Given the description of an element on the screen output the (x, y) to click on. 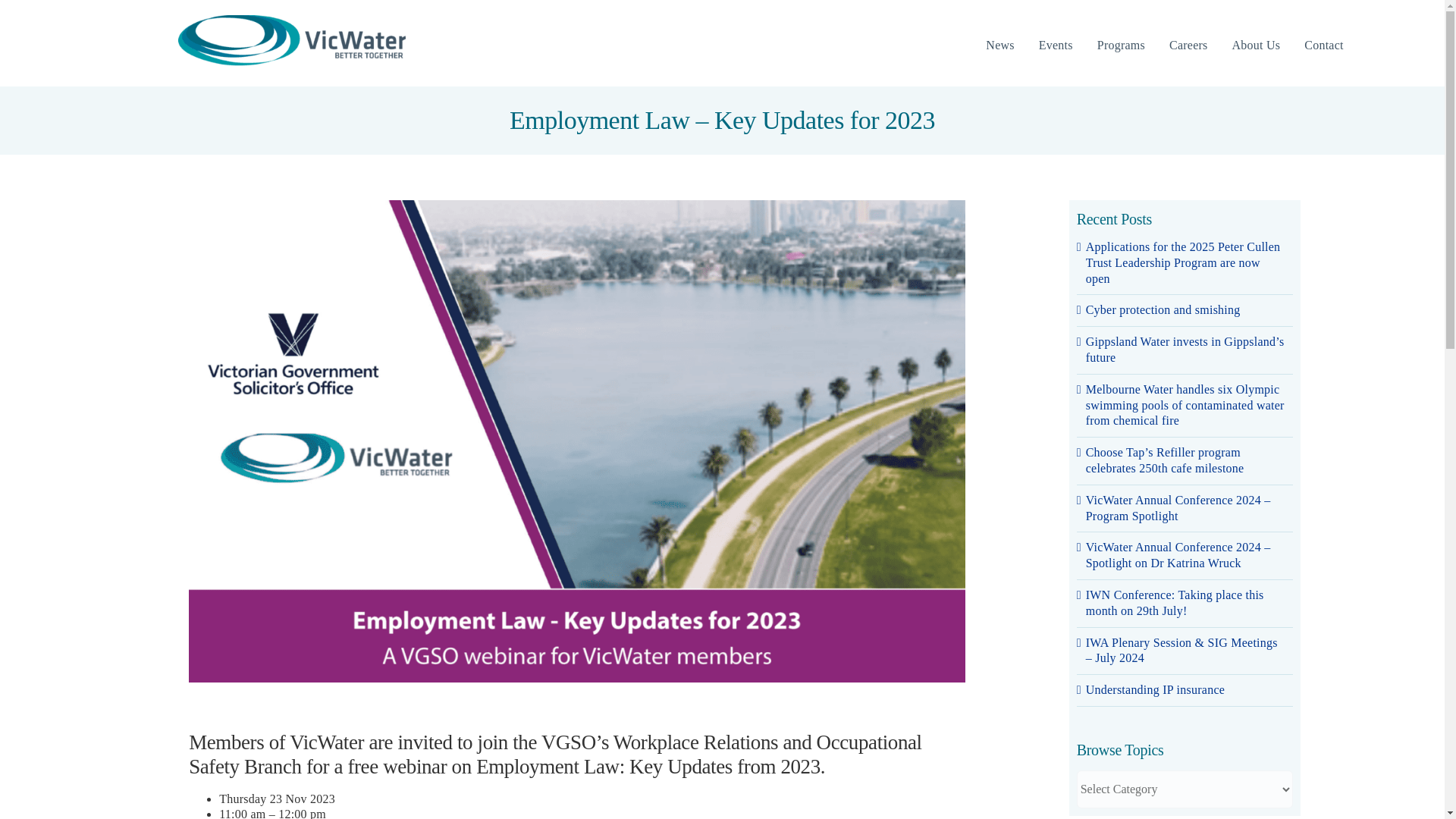
Careers (1188, 45)
Contact (1323, 45)
Understanding IP insurance (1155, 689)
Cyber protection and smishing (1163, 309)
About Us (1256, 45)
News (999, 45)
IWN Conference: Taking place this month on 29th July! (1174, 602)
Events (1056, 45)
